Given the description of an element on the screen output the (x, y) to click on. 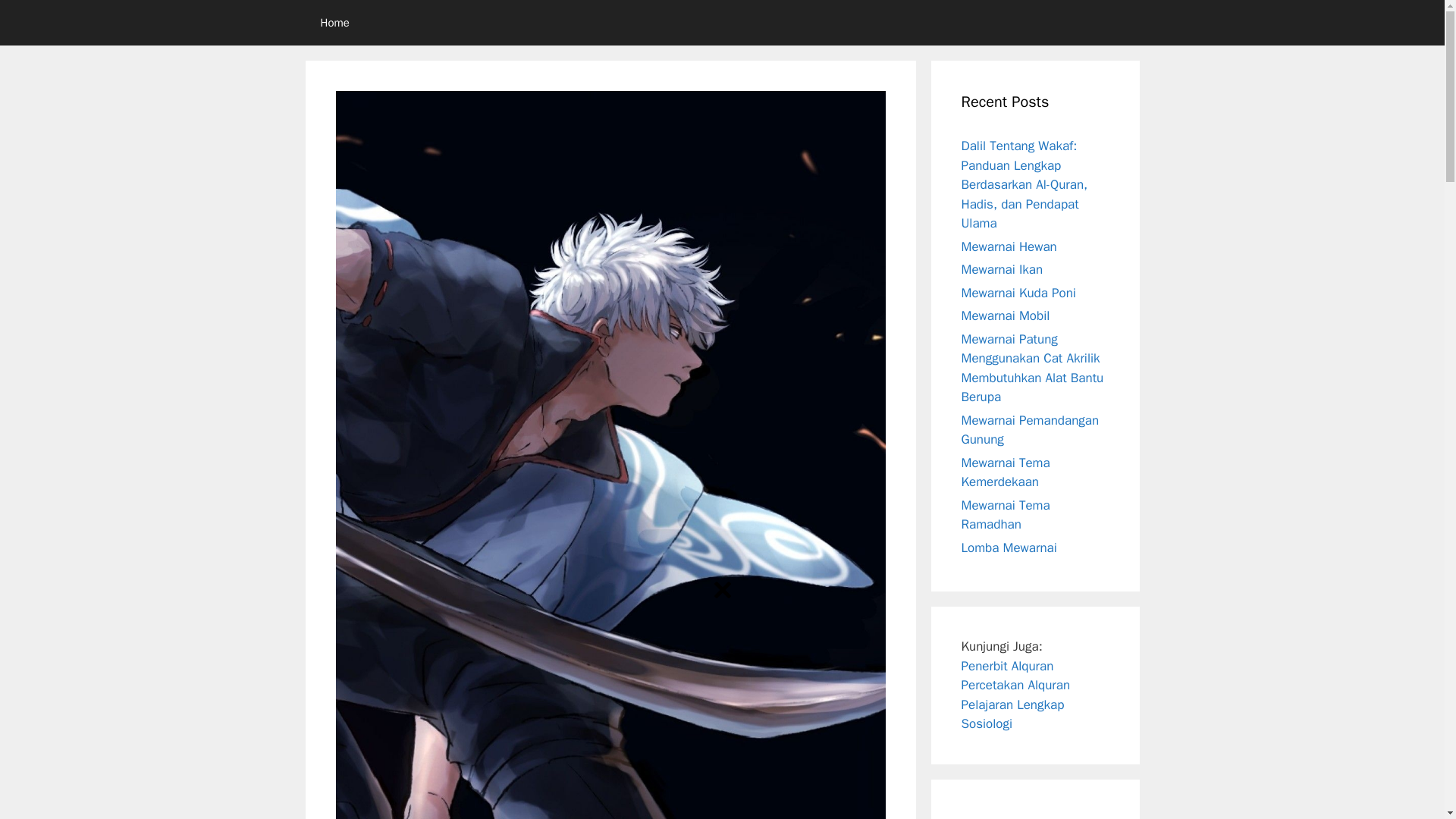
Penerbit Alquran (1007, 666)
Home (334, 22)
Mewarnai Pemandangan Gunung (1029, 429)
Mewarnai Ikan (1001, 269)
Mewarnai Hewan (1008, 245)
Advertisement (721, 712)
Mewarnai Mobil (1004, 315)
Percetakan Alquran (1015, 684)
